Given the description of an element on the screen output the (x, y) to click on. 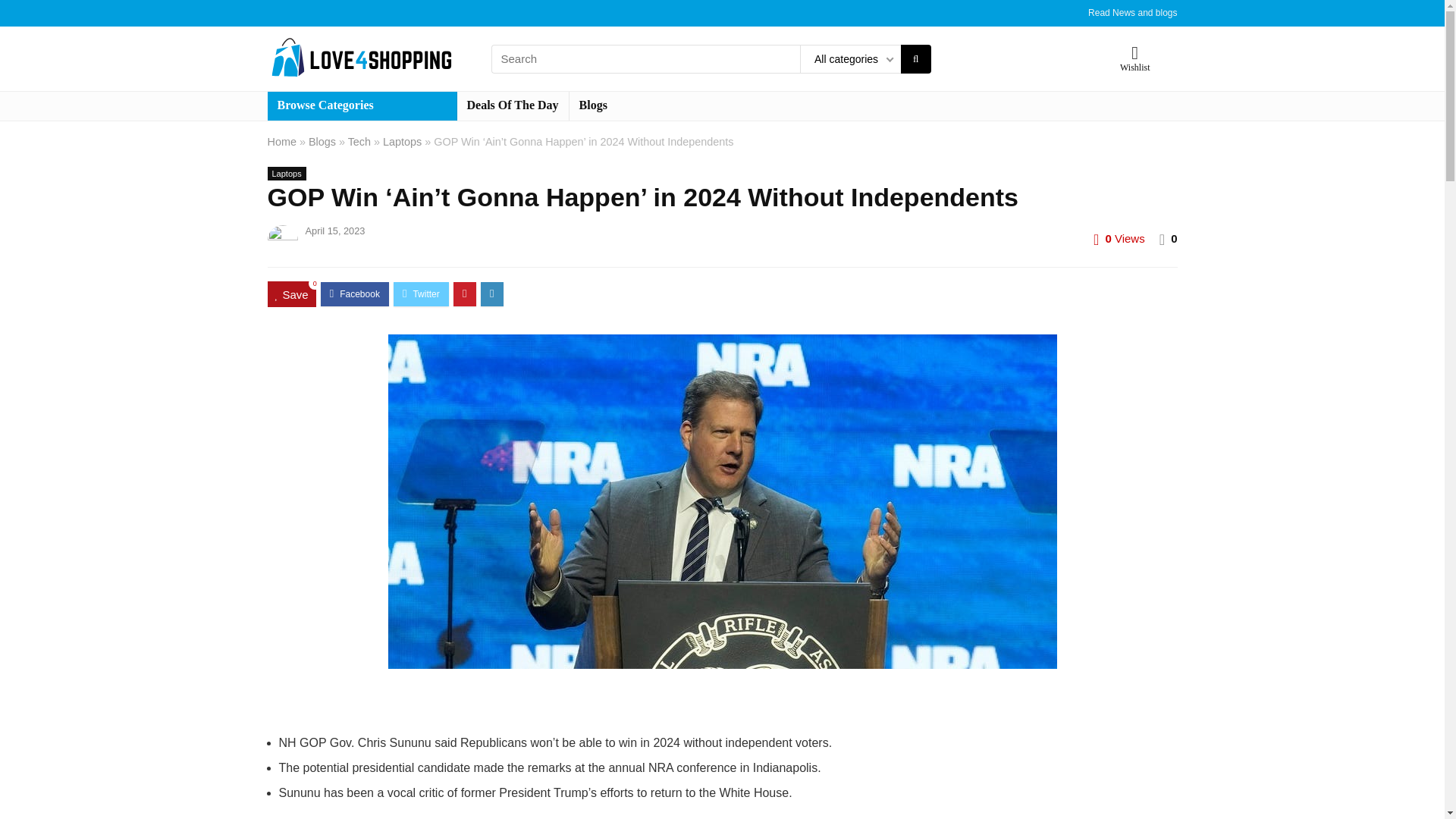
Read News and blogs (1131, 12)
Browse Categories (360, 105)
View all posts in Laptops (285, 173)
